Given the description of an element on the screen output the (x, y) to click on. 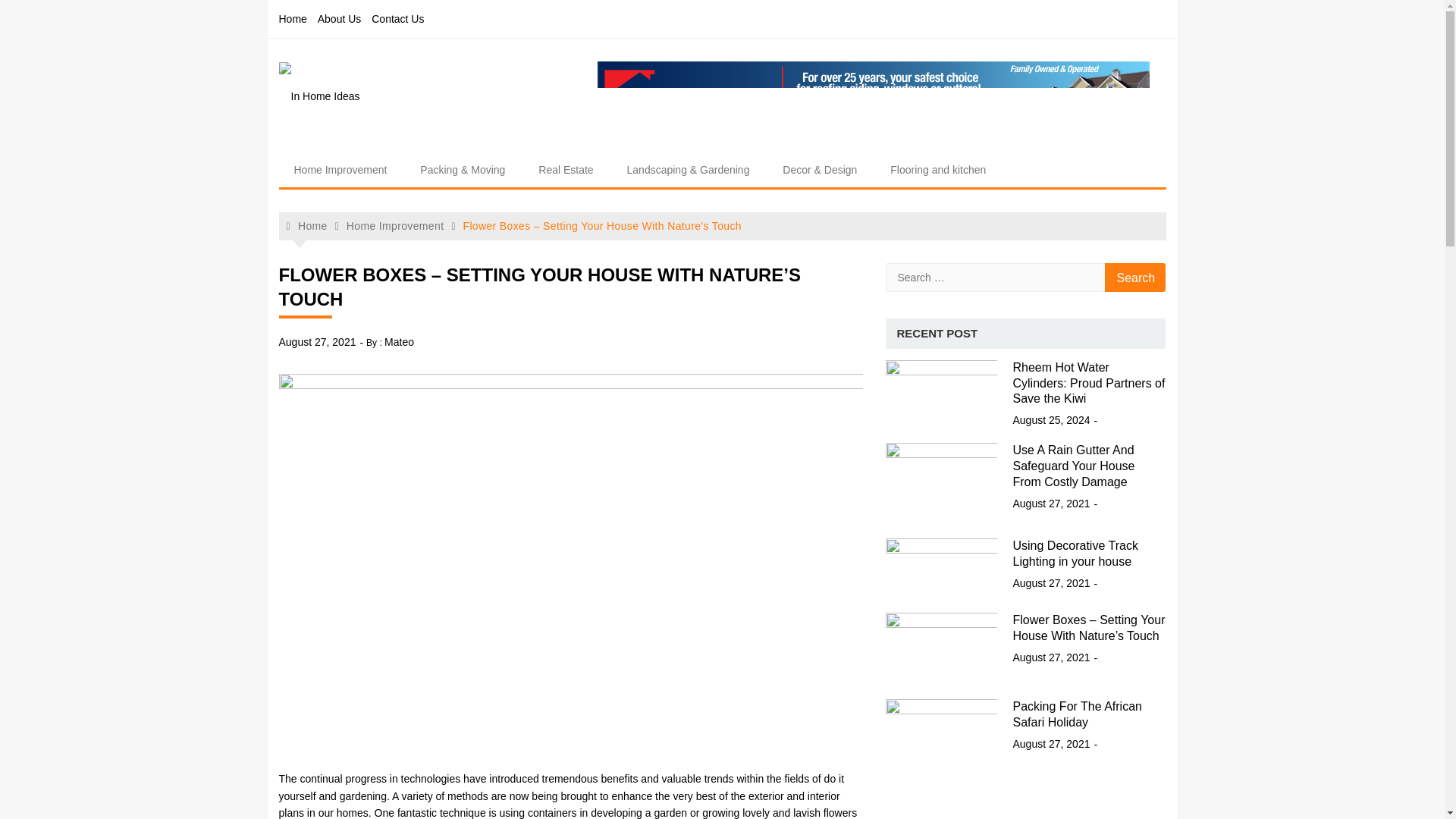
Real Estate (565, 169)
Search (1135, 276)
About Us (339, 18)
In Home Ideas (368, 146)
Contact Us (397, 18)
RECENT POST (937, 333)
Search (1135, 276)
Home Improvement (395, 225)
Search (1135, 276)
Home (306, 226)
